Given the description of an element on the screen output the (x, y) to click on. 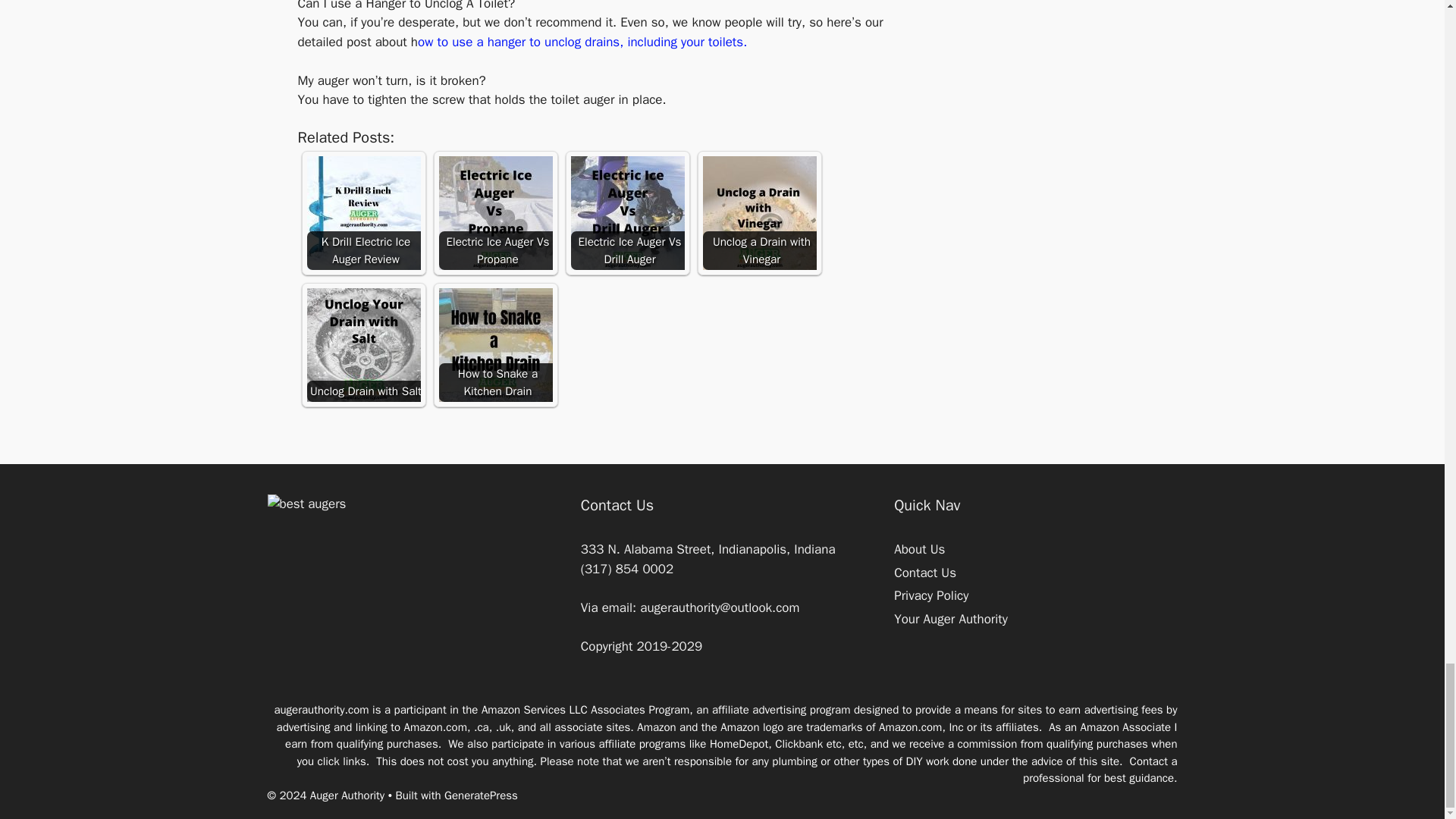
Electric Ice Auger Vs Drill Auger (627, 213)
Electric Ice Auger Vs Drill Auger (627, 213)
ow to use a hanger to unclog drains, including your toilets. (581, 41)
Unclog a Drain with Vinegar (758, 213)
K Drill Electric Ice Auger Review (362, 213)
Unclog Drain with Salt (362, 345)
Unclog a Drain with Vinegar (758, 213)
Electric Ice Auger Vs Propane (494, 213)
How to Snake a Kitchen Drain (494, 345)
K Drill Electric Ice Auger Review (362, 213)
